Given the description of an element on the screen output the (x, y) to click on. 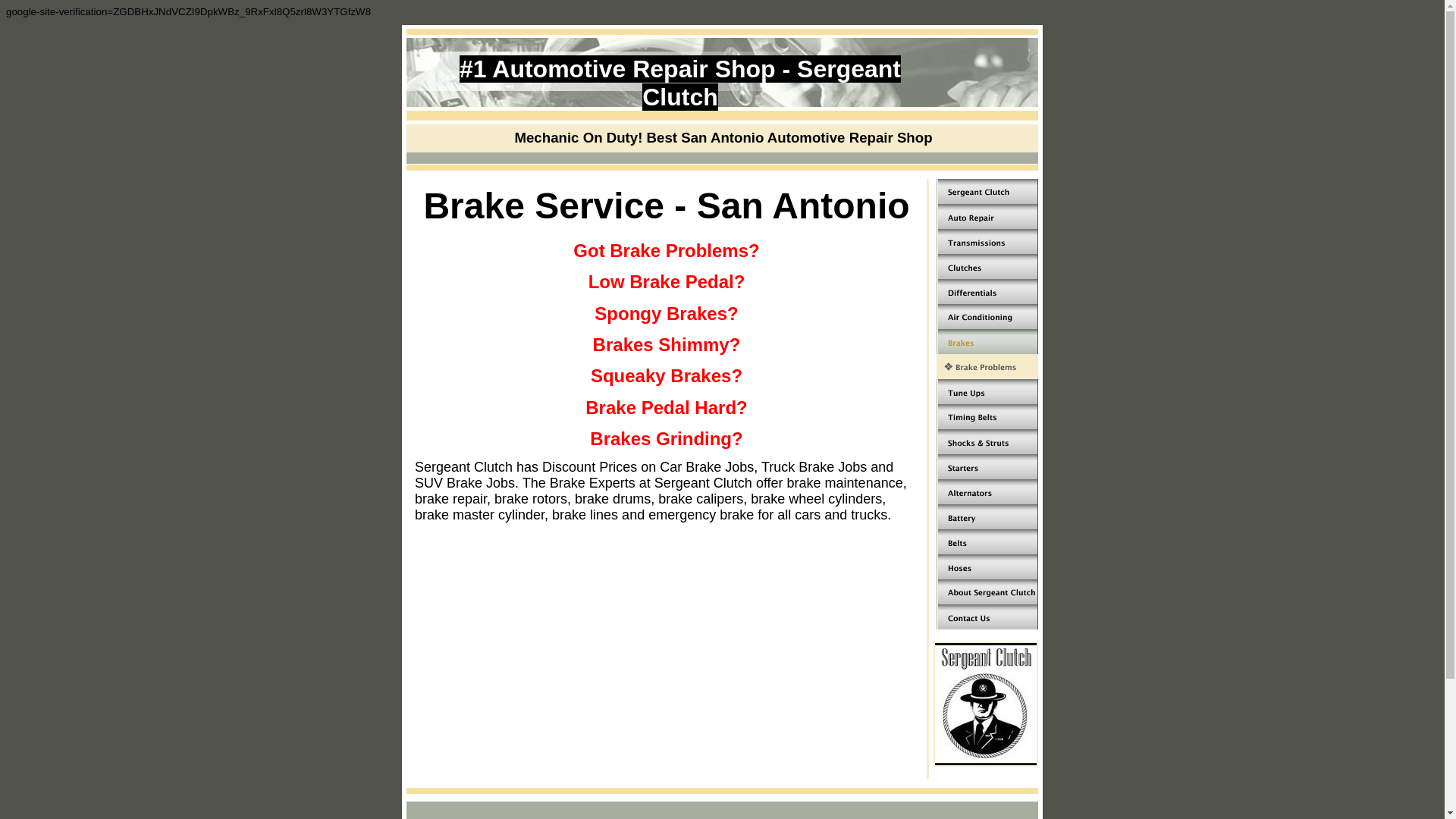
Clutches (987, 266)
Air Conditioning (987, 316)
Hoses (987, 566)
About Sergeant Clutch (987, 591)
Brakes (987, 341)
Starters (987, 466)
Sergeant Clutch (987, 191)
Belts (987, 541)
Brake Problems (987, 366)
Timing Belts (987, 416)
